Given the description of an element on the screen output the (x, y) to click on. 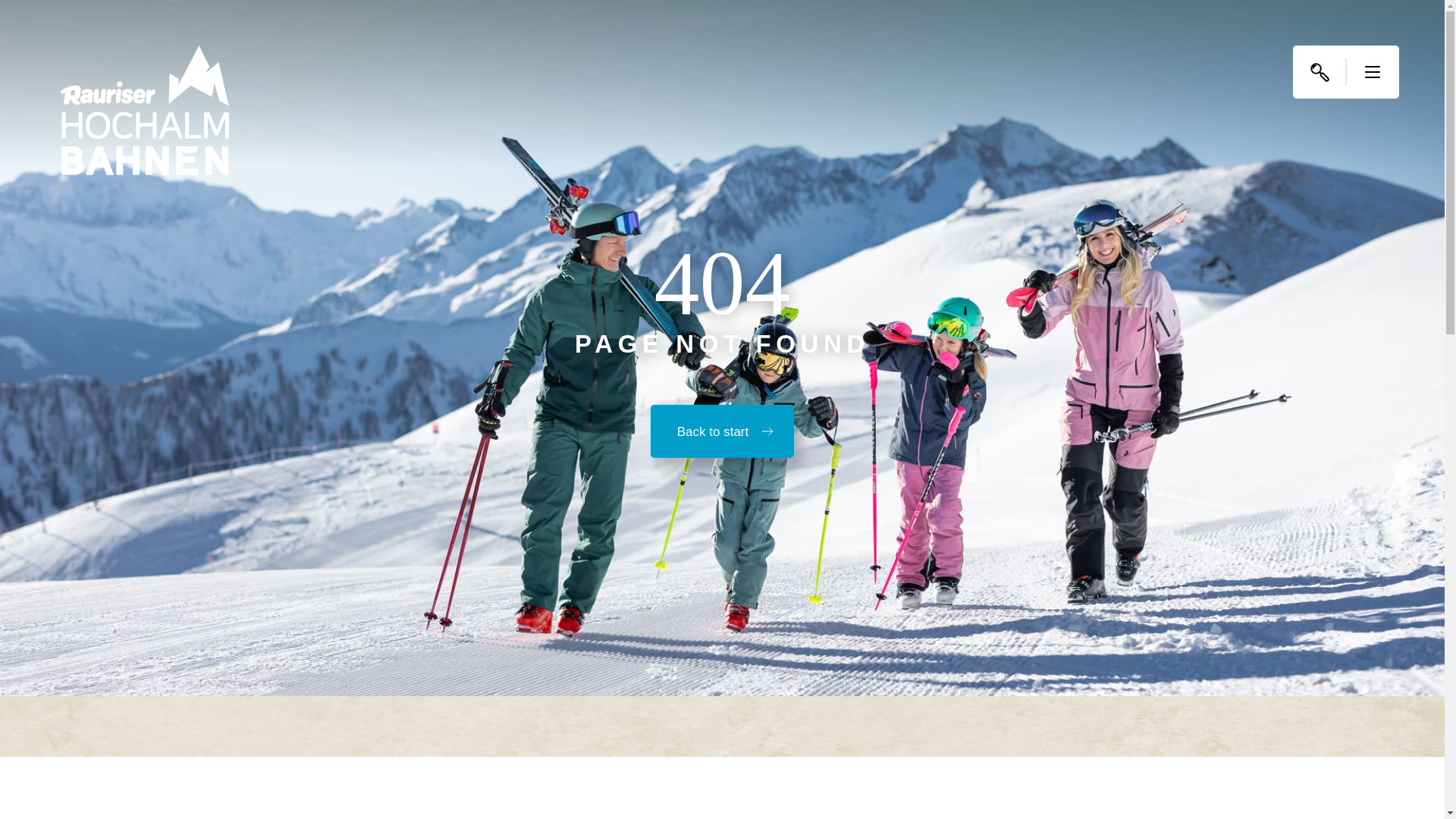
Back to start (721, 430)
Hochalmbahnen in Rauris (144, 110)
